Given the description of an element on the screen output the (x, y) to click on. 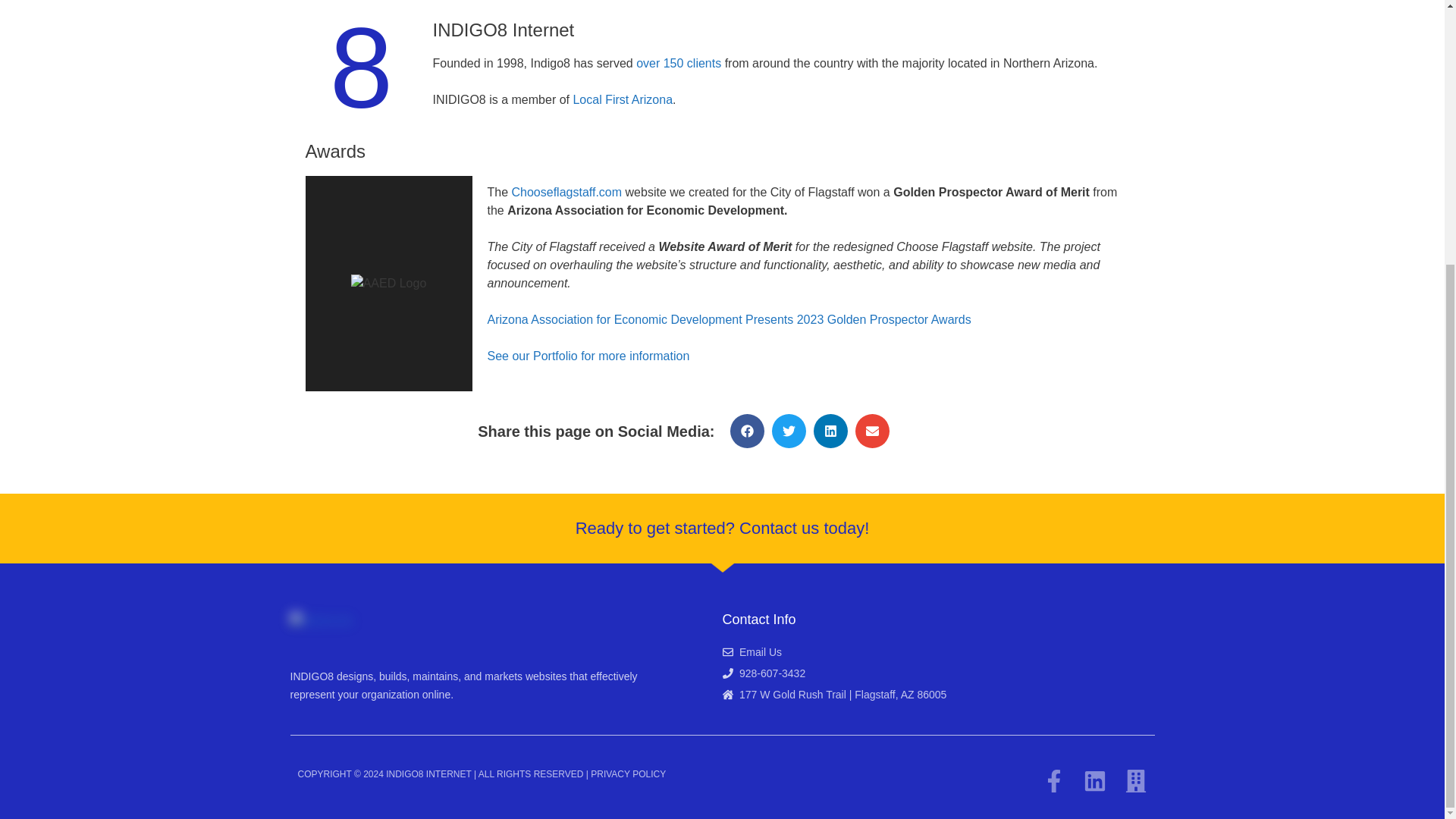
Local First Arizona (622, 99)
Chooseflagstaff.com (567, 192)
PRIVACY POLICY (628, 774)
928-607-3432 (763, 672)
over 150 clients (678, 62)
Email Us (751, 651)
AAED-logo (388, 283)
See our Portfolio for more information (587, 355)
